Given the description of an element on the screen output the (x, y) to click on. 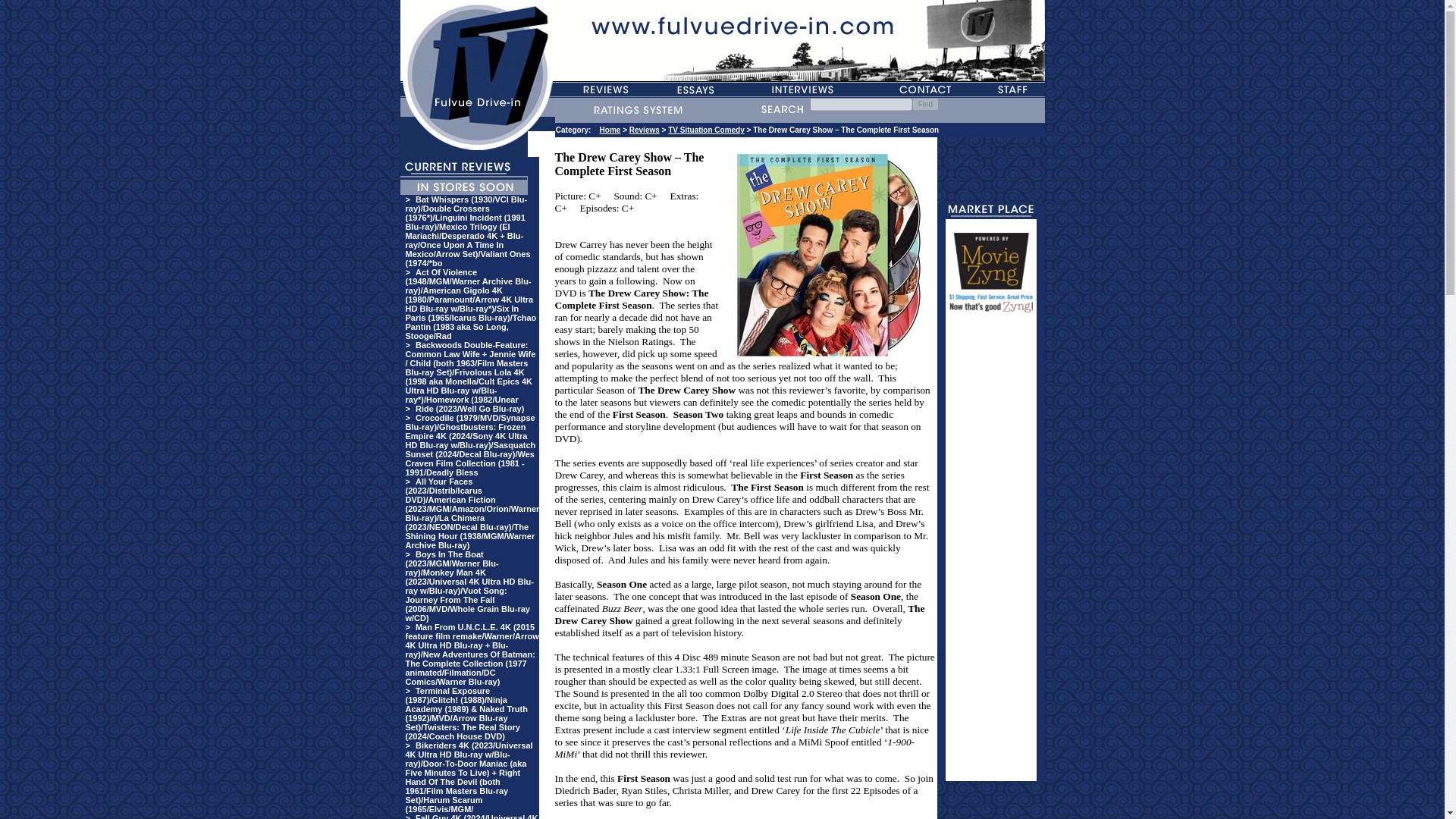
Reviews (643, 130)
Find (925, 103)
Find (925, 103)
Home (610, 130)
